Given the description of an element on the screen output the (x, y) to click on. 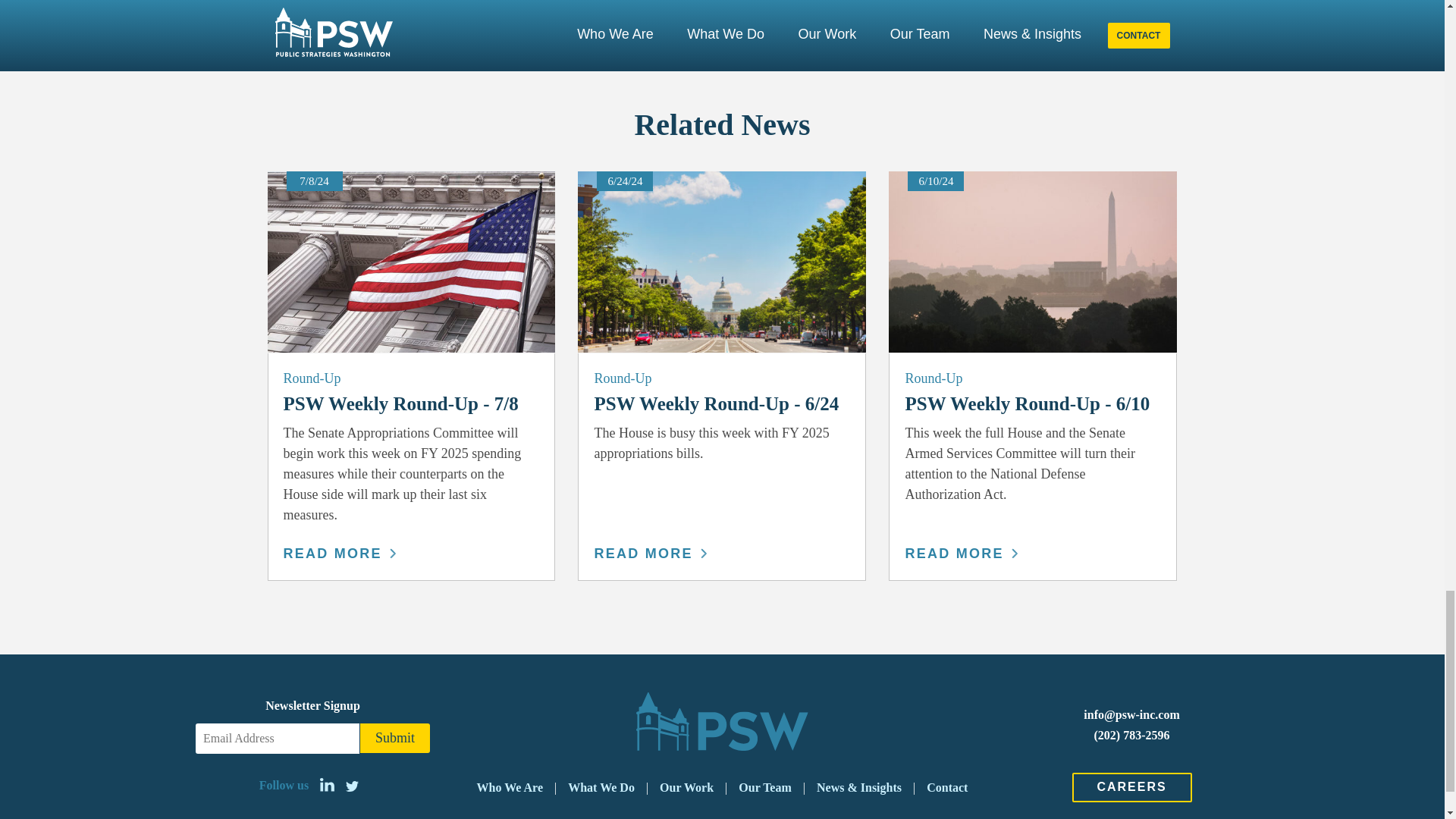
READ MORE (650, 554)
READ MORE (960, 554)
READ MORE (339, 554)
Submit (394, 737)
